Given the description of an element on the screen output the (x, y) to click on. 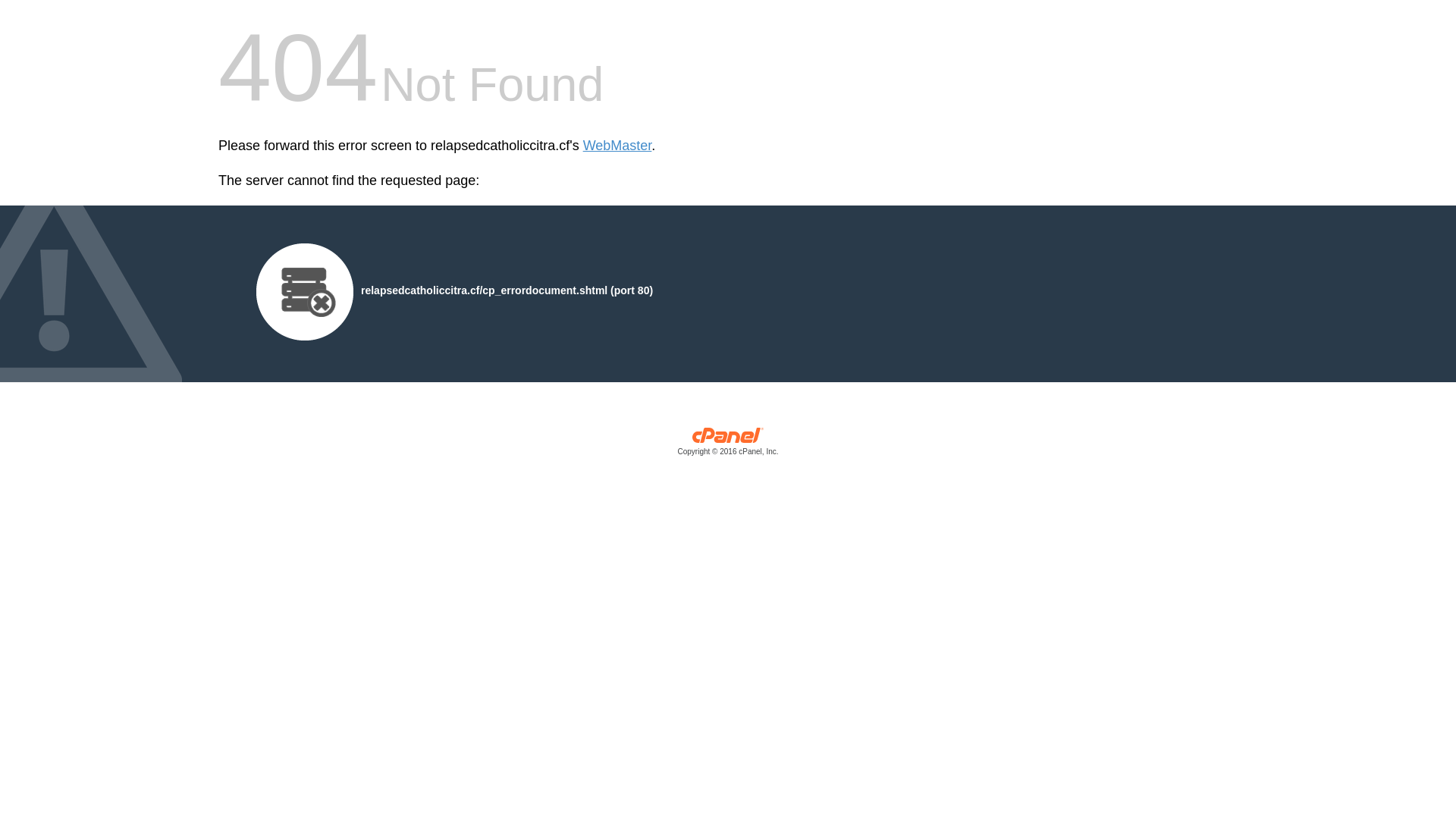
WebMaster Element type: text (617, 145)
